Given the description of an element on the screen output the (x, y) to click on. 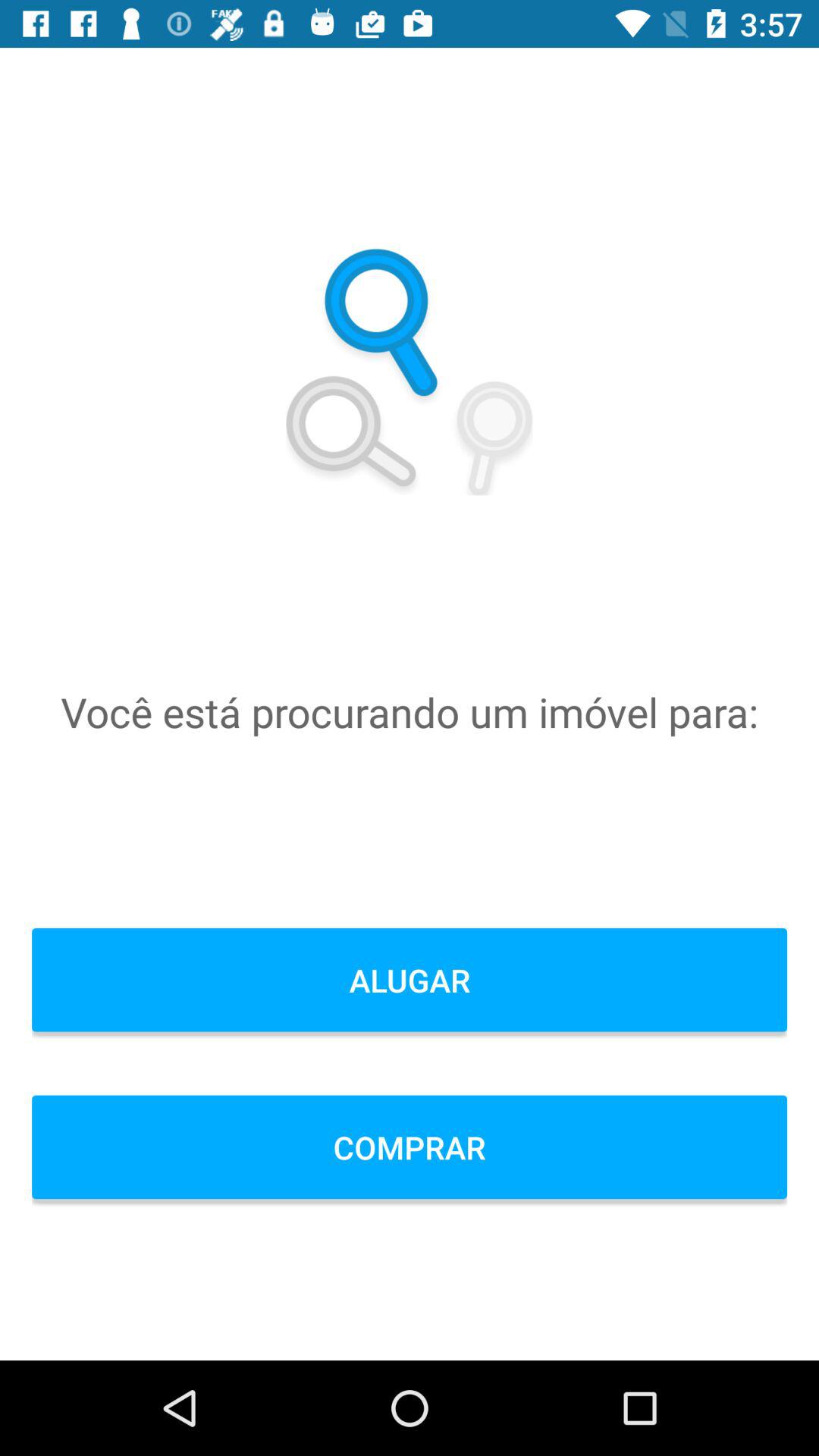
jump until alugar item (409, 979)
